Given the description of an element on the screen output the (x, y) to click on. 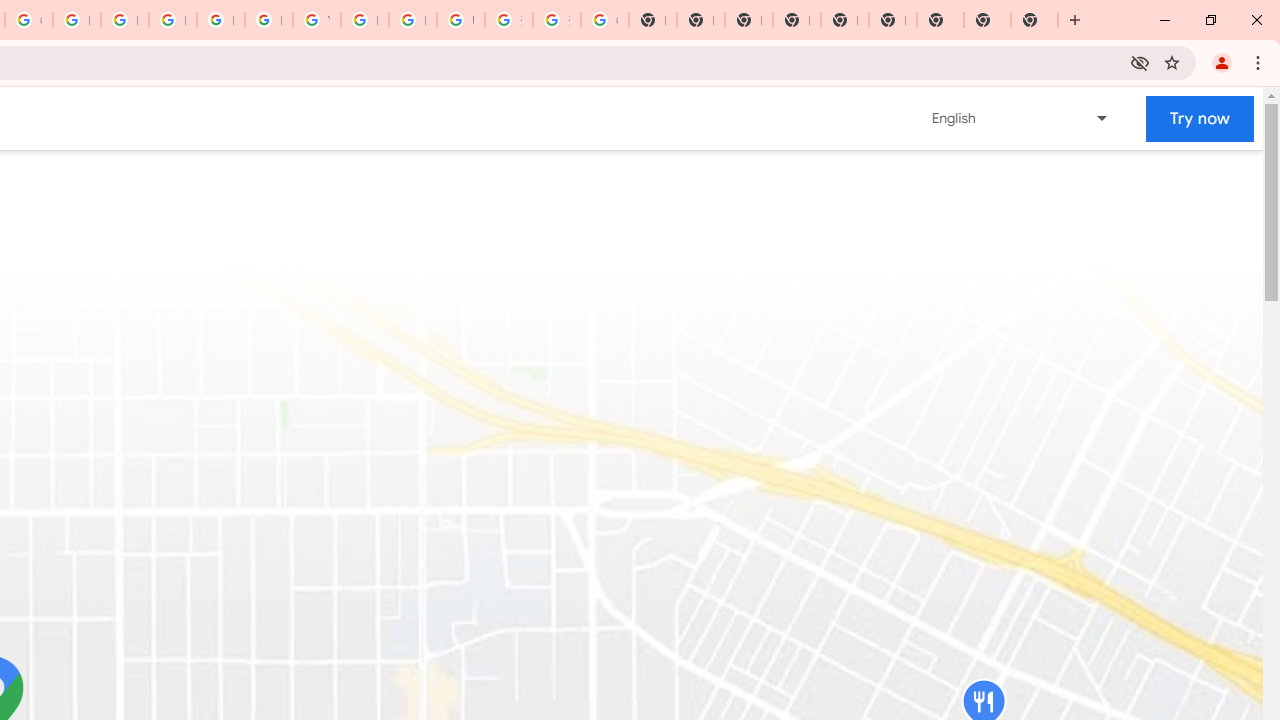
New Tab (1034, 20)
Try now (1199, 118)
YouTube (316, 20)
Privacy Help Center - Policies Help (76, 20)
New Tab (796, 20)
Privacy Help Center - Policies Help (124, 20)
